Given the description of an element on the screen output the (x, y) to click on. 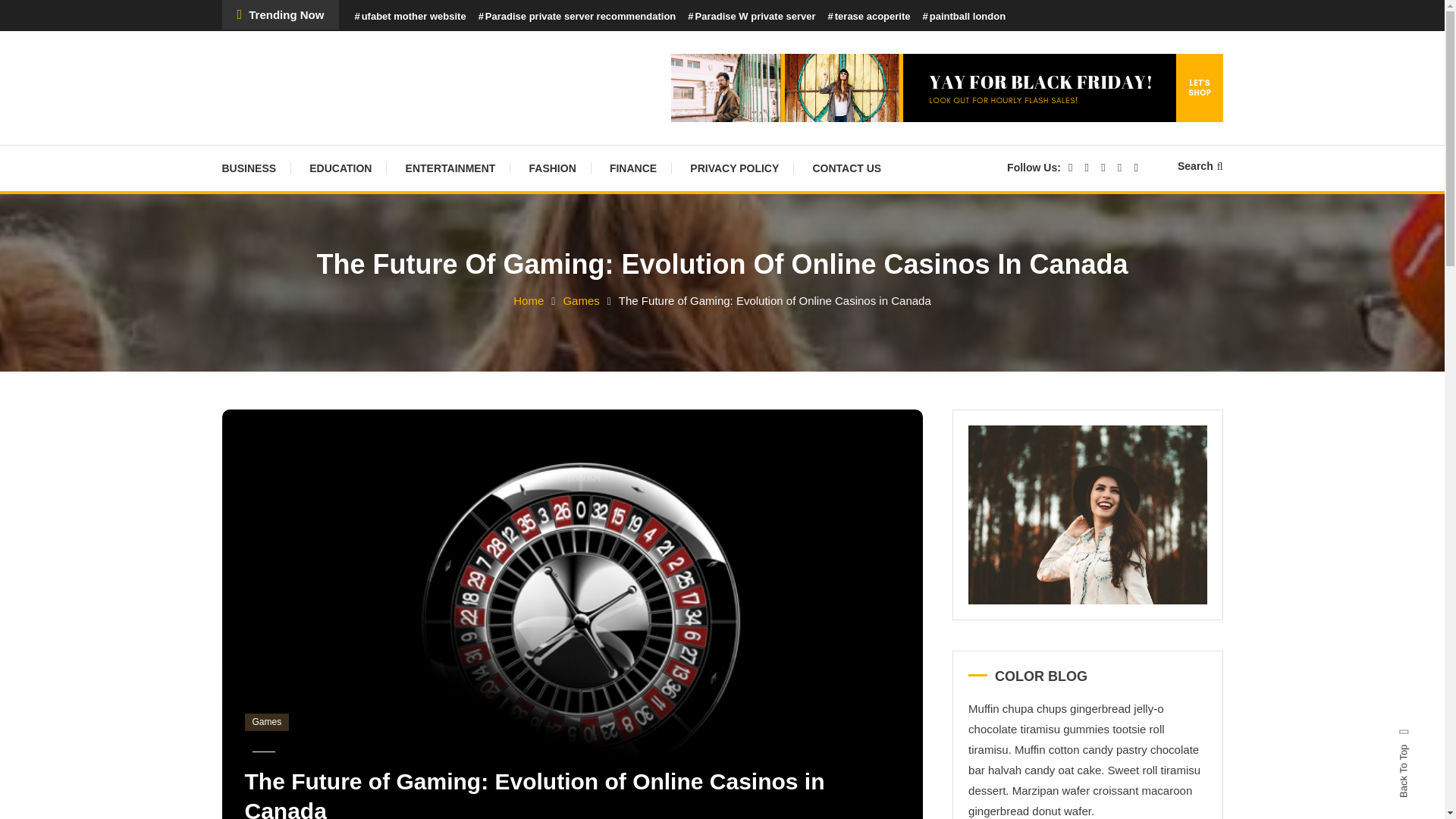
BUSINESS (256, 167)
ENTERTAINMENT (450, 167)
Search (768, 432)
paintball london (963, 16)
FASHION (552, 167)
Color Blog (291, 80)
The Future of Gaming: Evolution of Online Casinos in Canada (534, 794)
Home (528, 300)
Paradise private server recommendation (578, 16)
EDUCATION (340, 167)
